Given the description of an element on the screen output the (x, y) to click on. 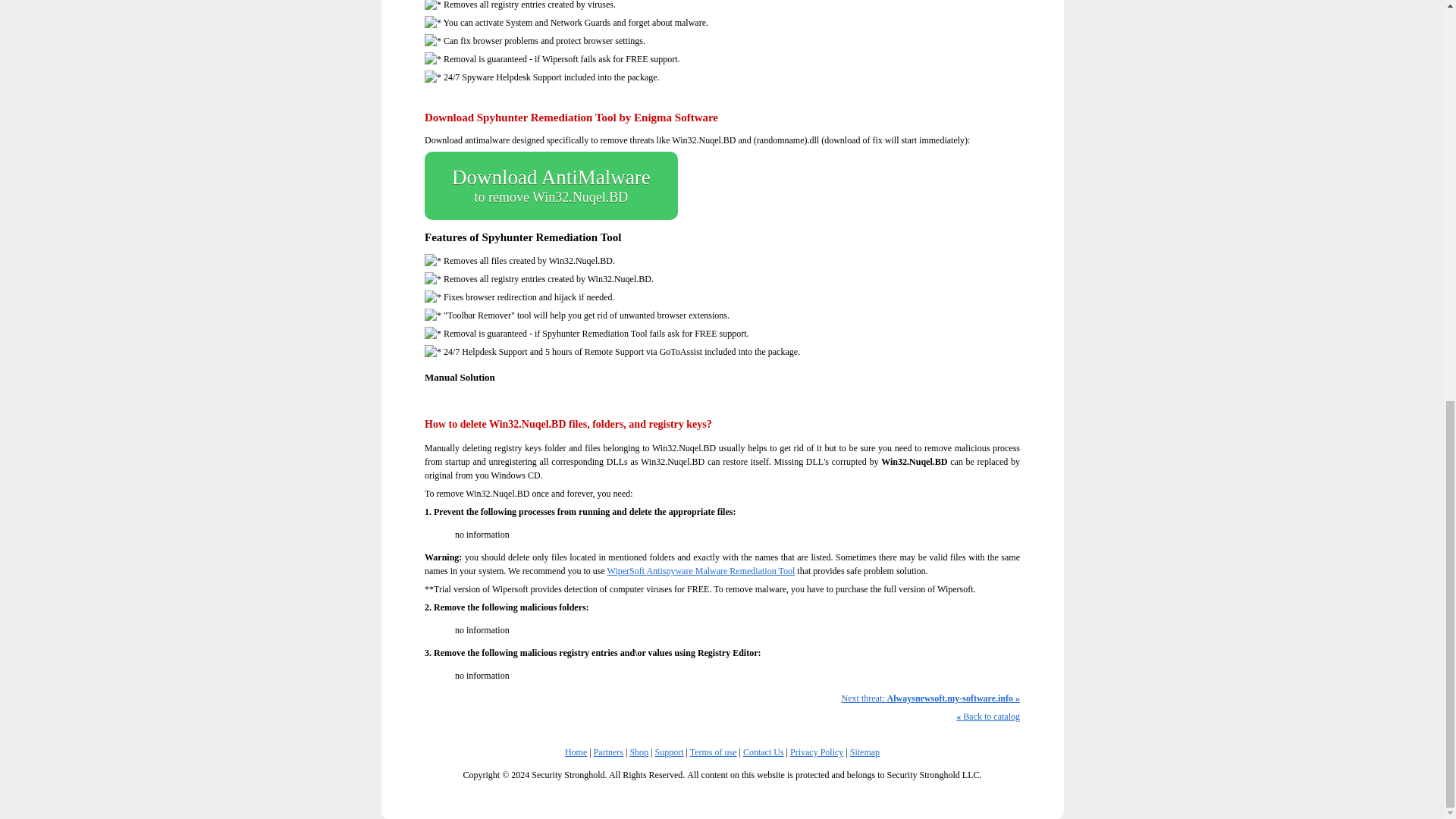
Home (575, 751)
Shop (637, 751)
Partners (608, 751)
Support (669, 751)
WiperSoft Antispyware Malware Remediation Tool (700, 570)
Terms of use (551, 185)
